Given the description of an element on the screen output the (x, y) to click on. 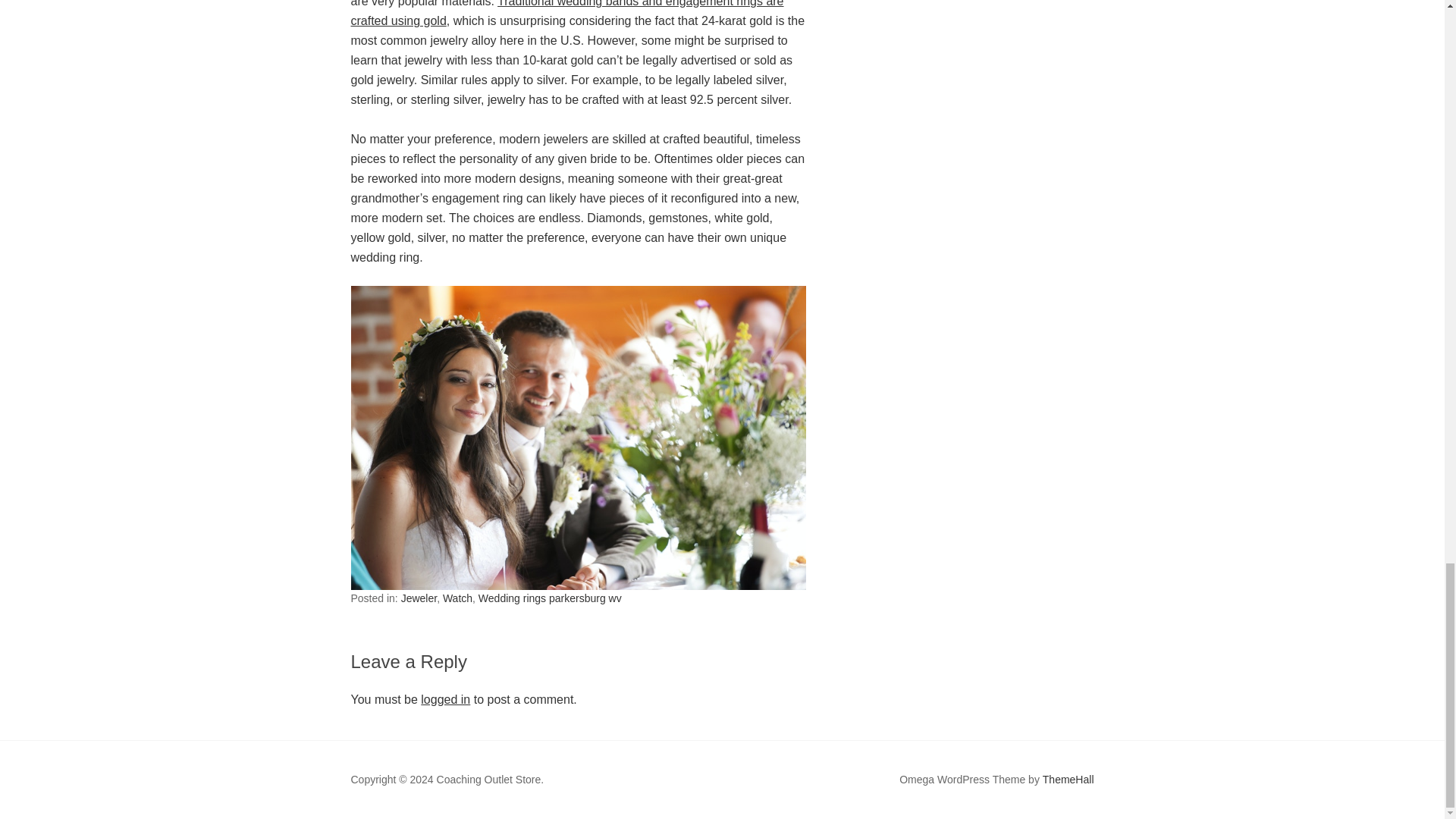
Jewelers, Jewelry store parkersburg wv (566, 13)
Watch (456, 598)
logged in (445, 698)
Jeweler (418, 598)
ThemeHall (1068, 779)
Wedding rings parkersburg wv (550, 598)
